Given the description of an element on the screen output the (x, y) to click on. 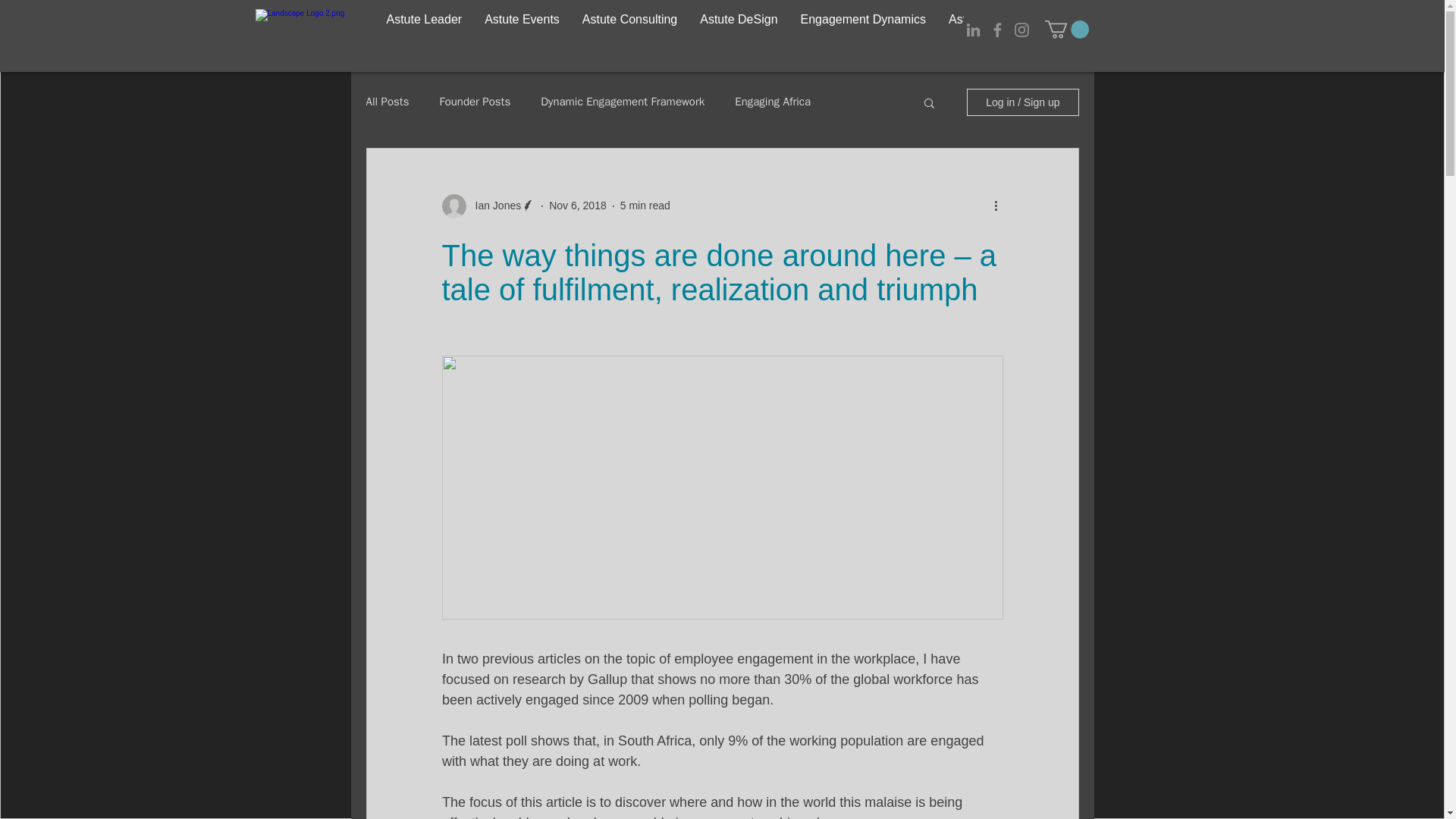
Astute Consulting (629, 30)
Nov 6, 2018 (577, 205)
Ian Jones (488, 206)
Astute Events (521, 30)
Dynamic Engagement Framework (622, 101)
Astute Ecosystem (997, 30)
5 min read (644, 205)
All Posts (387, 101)
Engaging Africa (772, 101)
Ian Jones (493, 205)
Astute Leader (423, 30)
Engagement Dynamics (863, 30)
Astute DeSign (738, 30)
Founder Posts (475, 101)
